Given the description of an element on the screen output the (x, y) to click on. 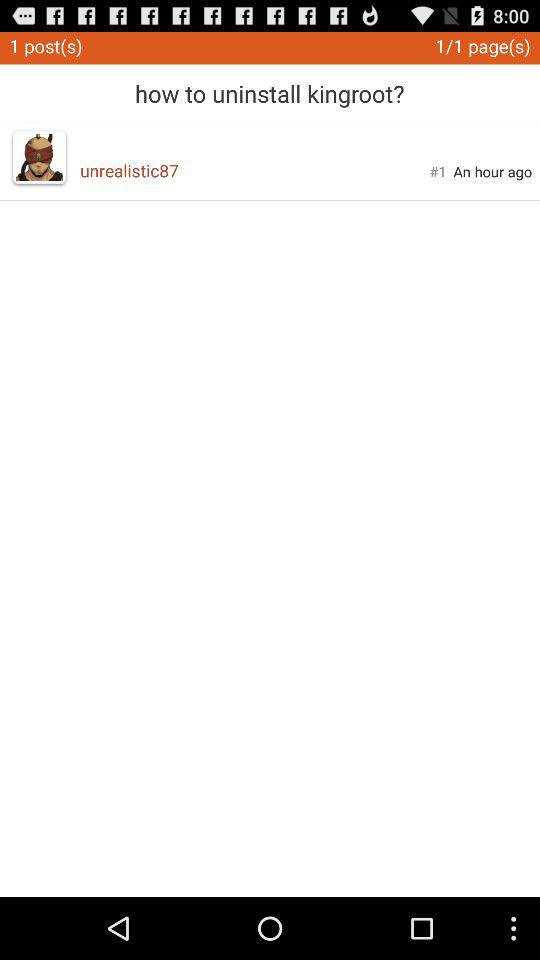
open how to uninstall app (269, 86)
